Given the description of an element on the screen output the (x, y) to click on. 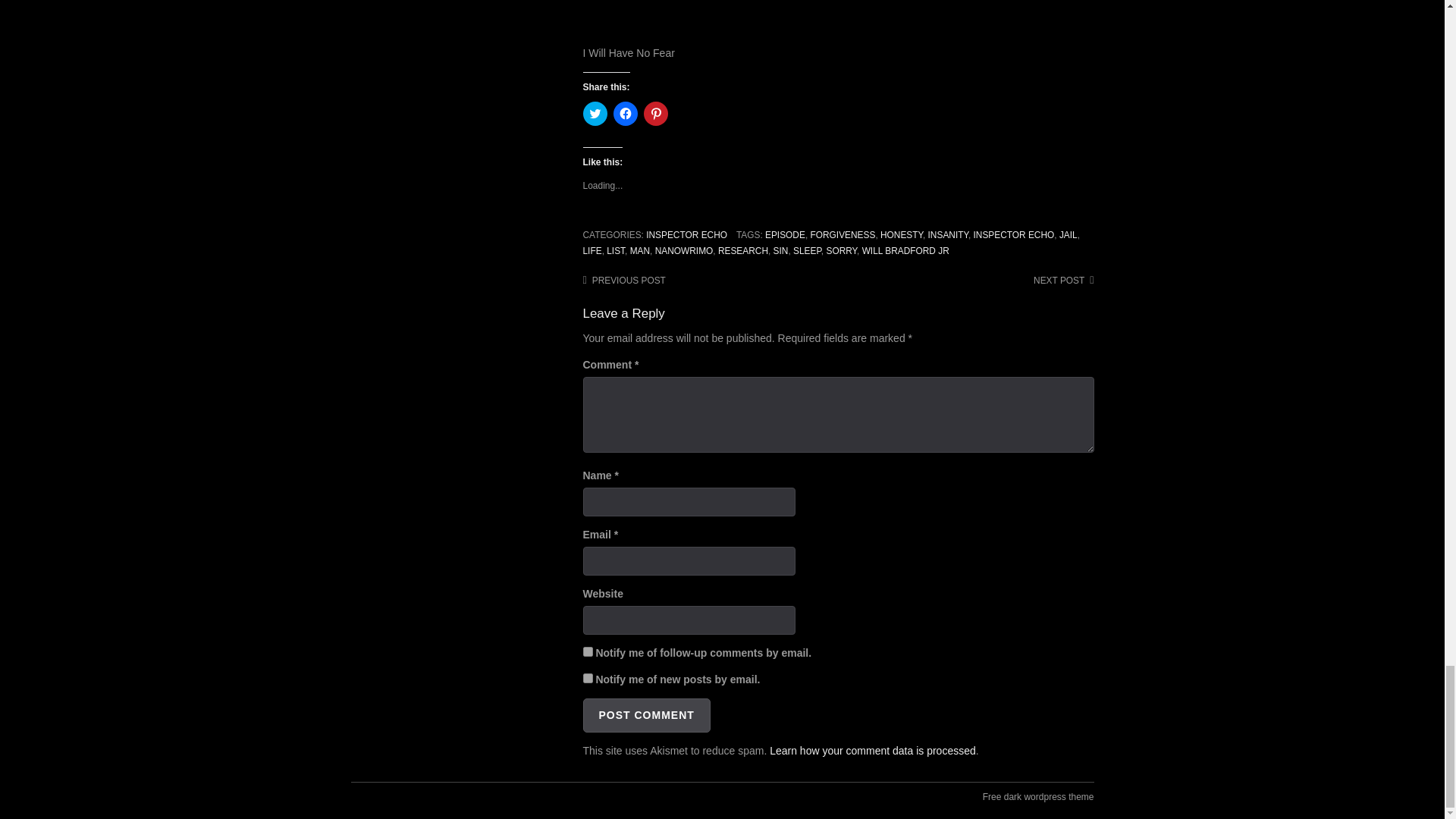
Post Comment (646, 715)
NEXT POST (1063, 280)
EPISODE (785, 235)
Click to share on Facebook (624, 113)
NANOWRIMO (684, 250)
LIST (615, 250)
MAN (639, 250)
HONESTY (901, 235)
JAIL (1068, 235)
subscribe (587, 678)
SORRY (841, 250)
FORGIVENESS (842, 235)
Learn how your comment data is processed (872, 750)
INSPECTOR ECHO (1013, 235)
Click to share on Pinterest (654, 113)
